Given the description of an element on the screen output the (x, y) to click on. 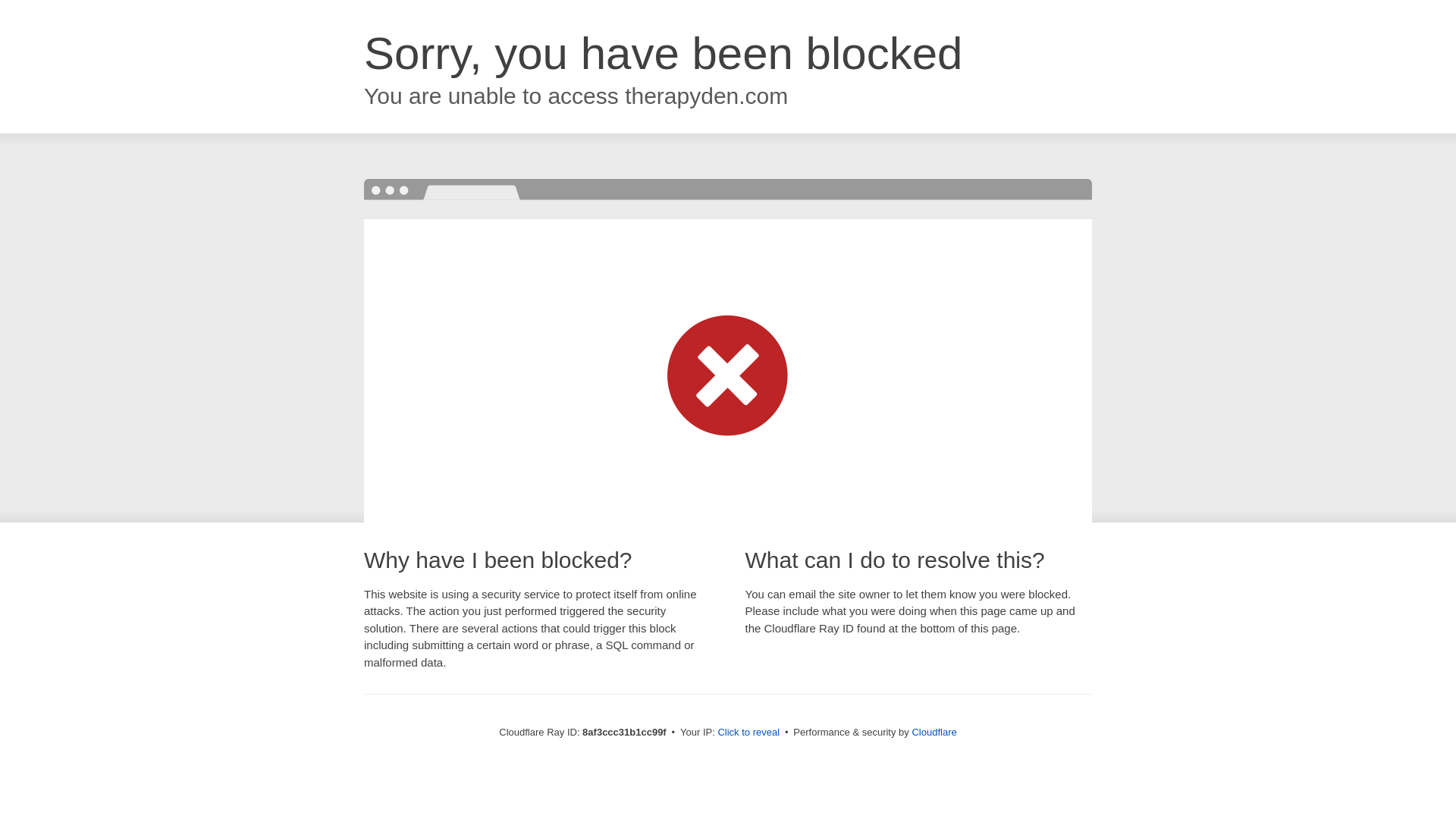
Cloudflare (933, 731)
Click to reveal (747, 732)
